Given the description of an element on the screen output the (x, y) to click on. 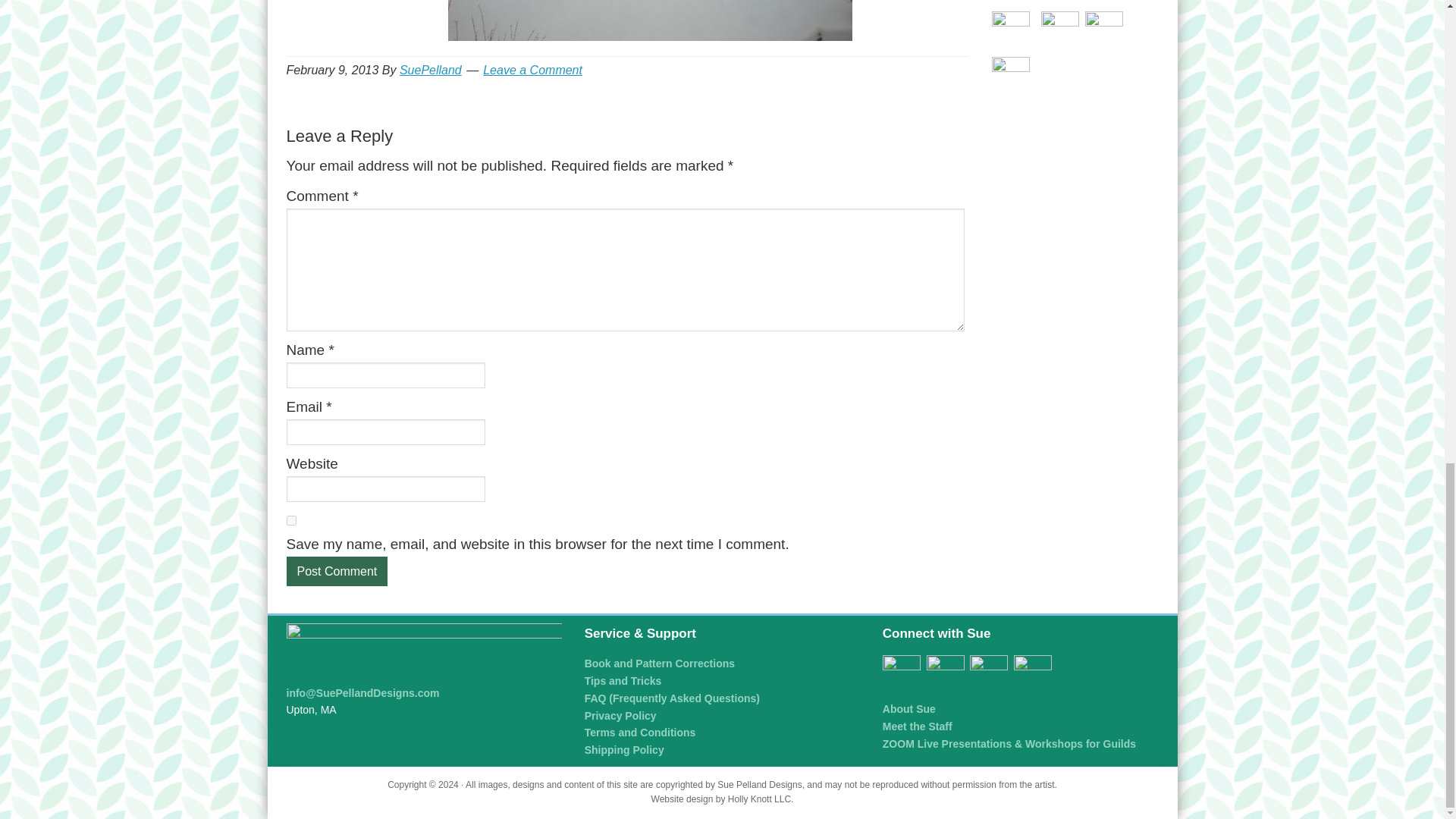
yes (291, 520)
Post Comment (337, 571)
DSCN5984 (650, 20)
DSCN5984 (649, 20)
